Given the description of an element on the screen output the (x, y) to click on. 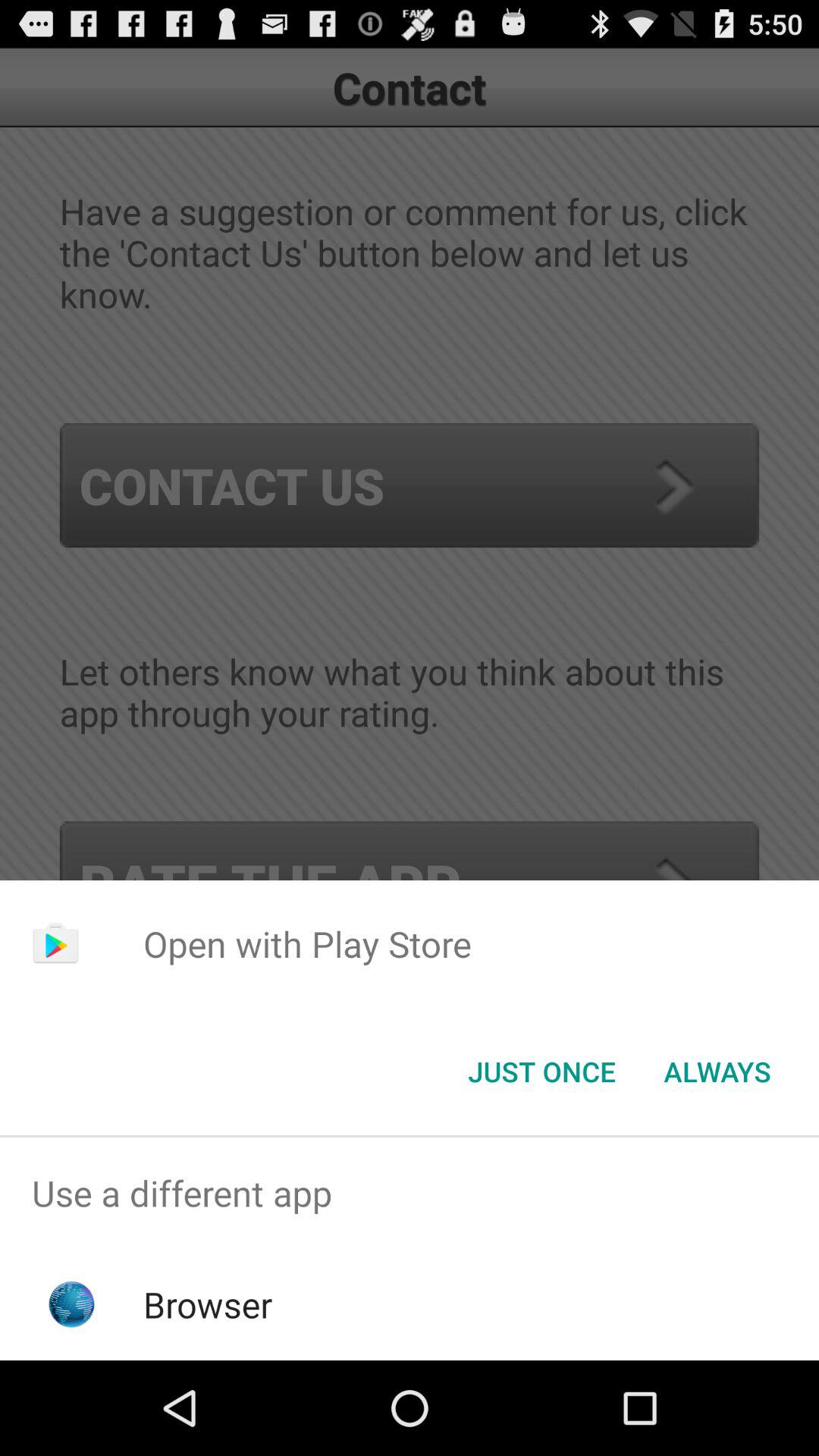
tap the browser item (207, 1304)
